Given the description of an element on the screen output the (x, y) to click on. 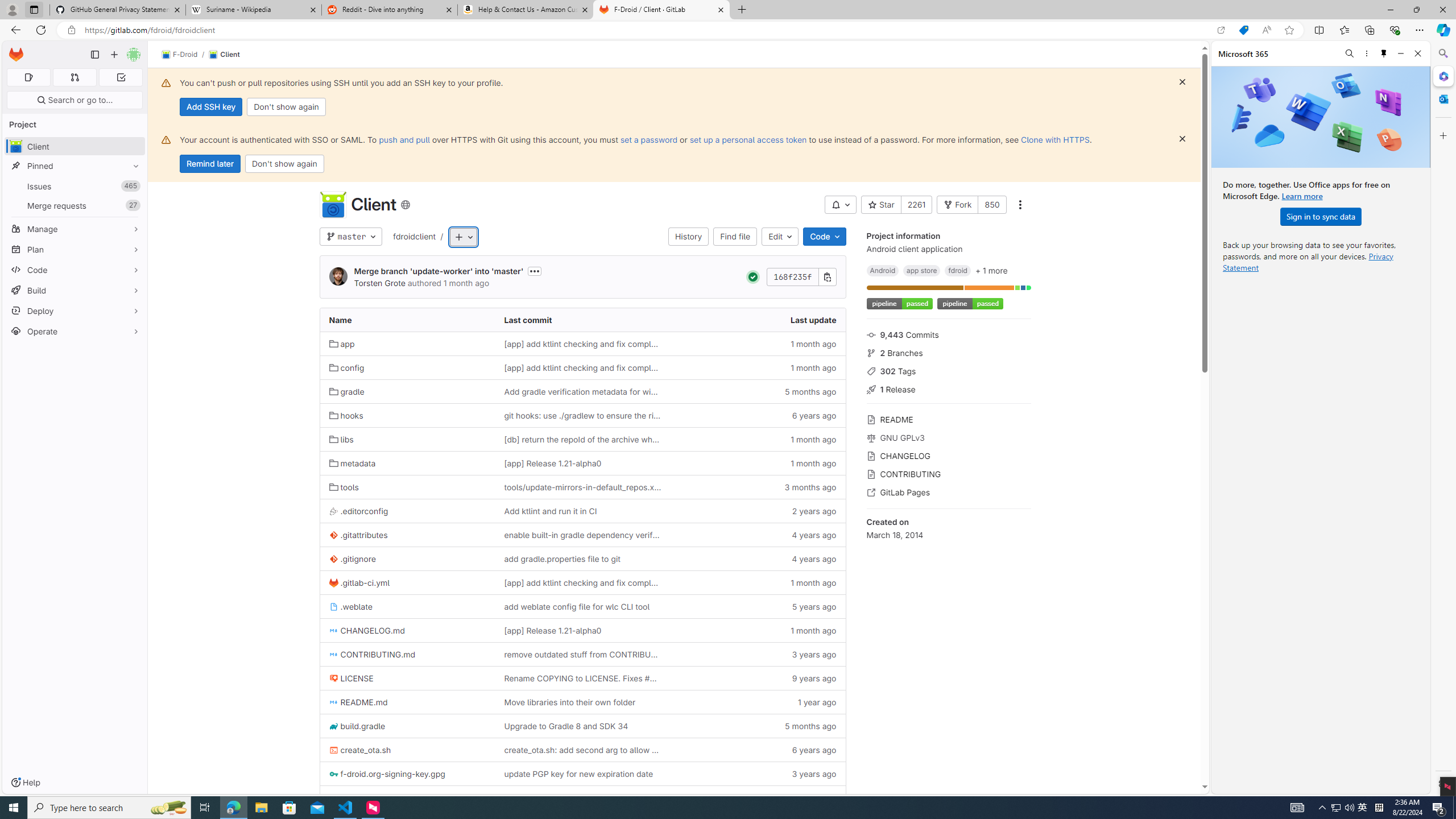
Move libraries into their own folder (583, 701)
3 months ago (757, 487)
Primary navigation sidebar (94, 54)
1 Release (948, 388)
Add gradle verification metadata for windows (583, 391)
LICENSE (407, 677)
GitLab Pages (948, 491)
Upgrade to Gradle 8 and SDK 34 (583, 725)
[app] add ktlint checking and fix complaints it has (582, 582)
Merge branch 'update-worker' into 'master' (438, 271)
.gitlab-ci.yml (407, 582)
F-Droid (179, 54)
3 years ago (757, 773)
